Given the description of an element on the screen output the (x, y) to click on. 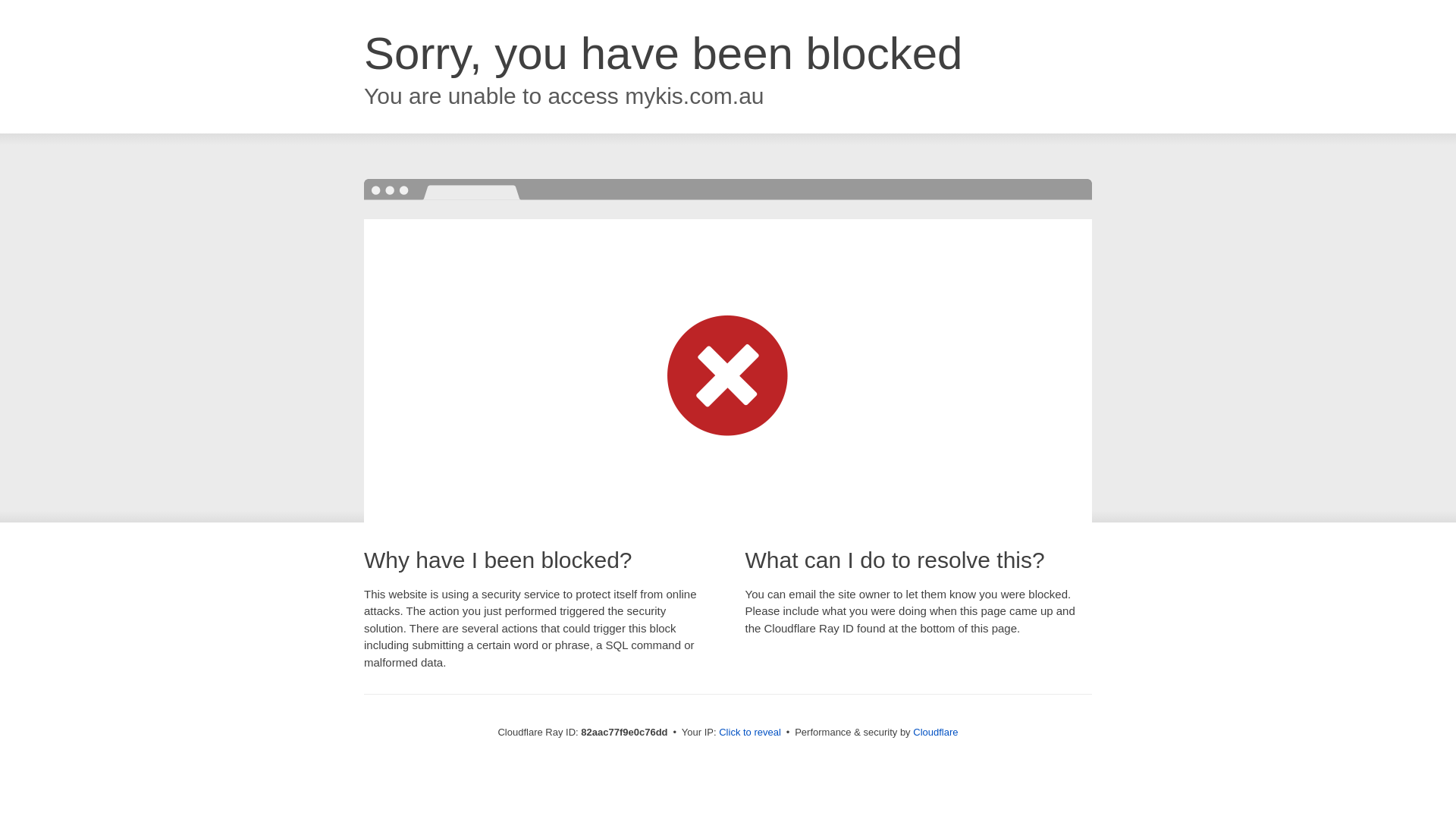
Cloudflare Element type: text (935, 731)
Click to reveal Element type: text (749, 732)
